Given the description of an element on the screen output the (x, y) to click on. 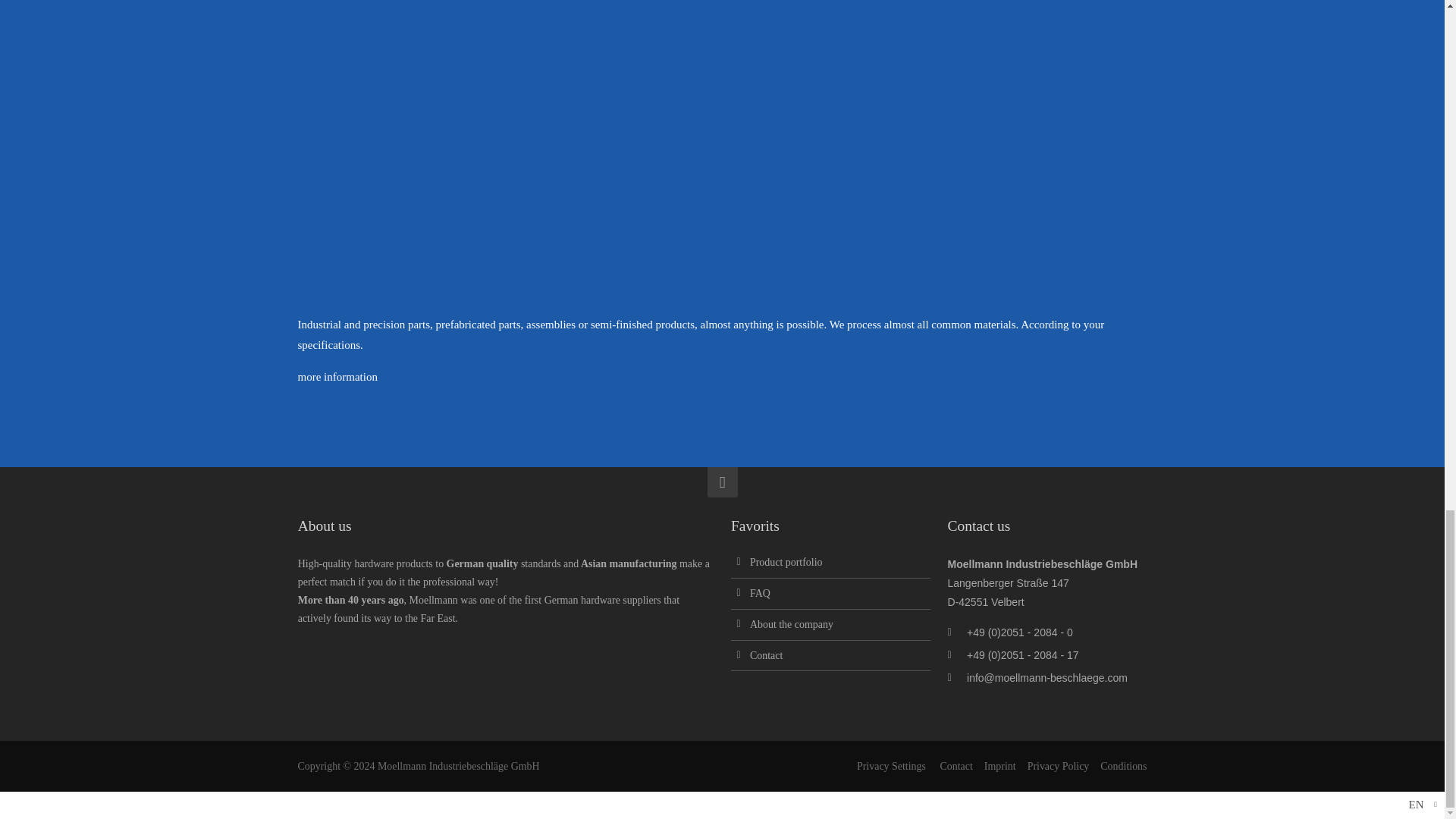
FAQ (759, 593)
more information (337, 377)
About the company (790, 624)
Product portfolio (785, 562)
